Given the description of an element on the screen output the (x, y) to click on. 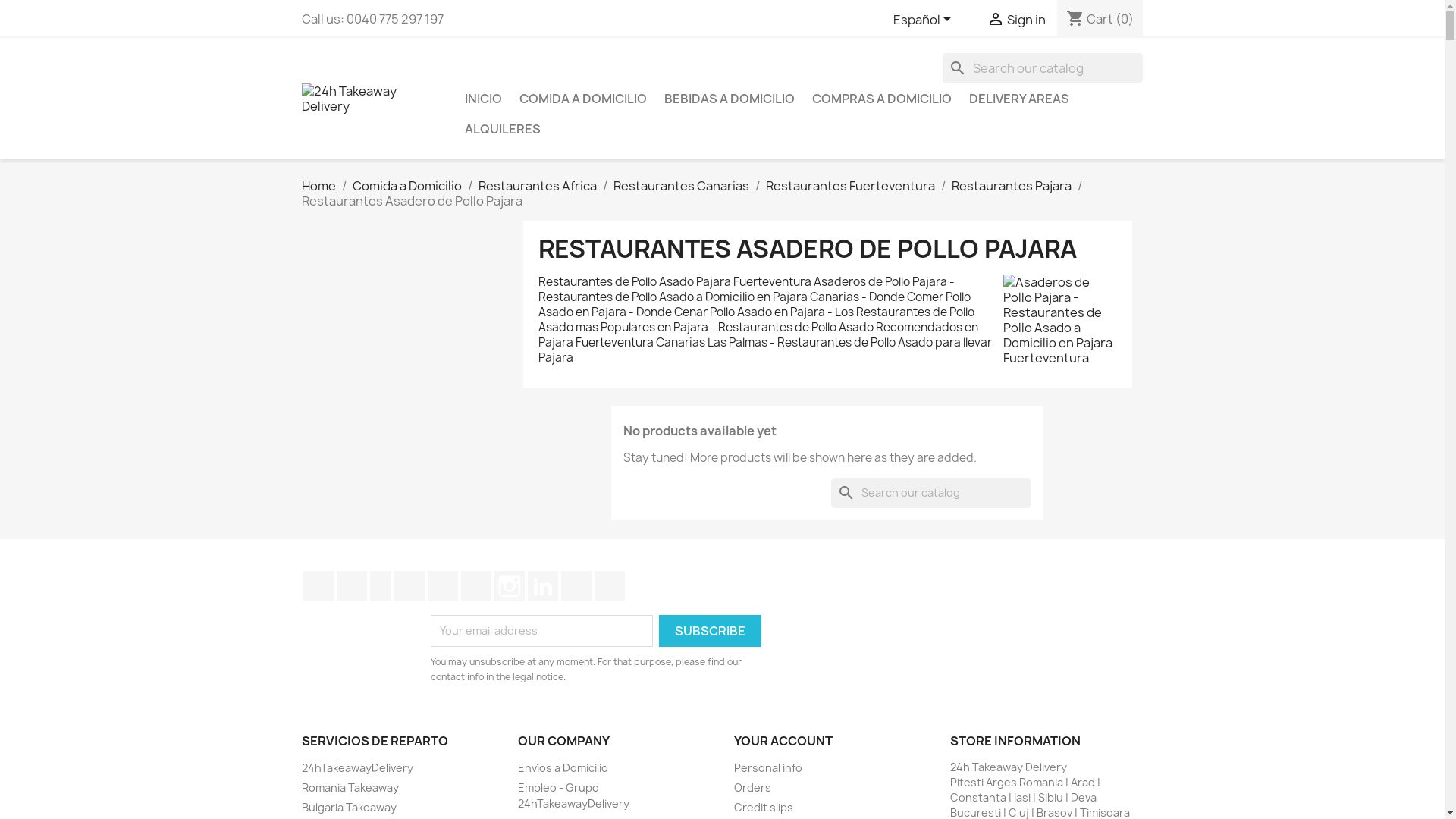
ALQUILERES Element type: text (501, 128)
YouTube Element type: text (409, 586)
Home Element type: text (318, 185)
Bulgaria Takeaway Element type: text (348, 807)
Restaurantes Fuerteventura Element type: text (850, 185)
DELIVERY AREAS Element type: text (1018, 98)
YOUR ACCOUNT Element type: text (783, 740)
BEBIDAS A DOMICILIO Element type: text (729, 98)
Pinterest Element type: text (442, 586)
Twitter Element type: text (351, 586)
Instagram Element type: text (509, 586)
24hTakeawayDelivery Element type: text (357, 767)
Orders Element type: text (752, 787)
Rss Element type: text (380, 586)
Personal info Element type: text (768, 767)
Facebook Element type: text (318, 586)
TikTok Element type: text (576, 586)
Subscribe Element type: text (709, 630)
Restaurantes Canarias Element type: text (680, 185)
COMIDA A DOMICILIO Element type: text (582, 98)
Romania Takeaway Element type: text (349, 787)
COMPRAS A DOMICILIO Element type: text (880, 98)
Empleo - Grupo 24hTakeawayDelivery Element type: text (572, 795)
Restaurantes Pajara Element type: text (1010, 185)
INICIO Element type: text (482, 98)
Credit slips Element type: text (763, 807)
Discord Element type: text (609, 586)
LinkedIn Element type: text (542, 586)
Comida a Domicilio Element type: text (406, 185)
Restaurantes Africa Element type: text (536, 185)
Vimeo Element type: text (476, 586)
